Given the description of an element on the screen output the (x, y) to click on. 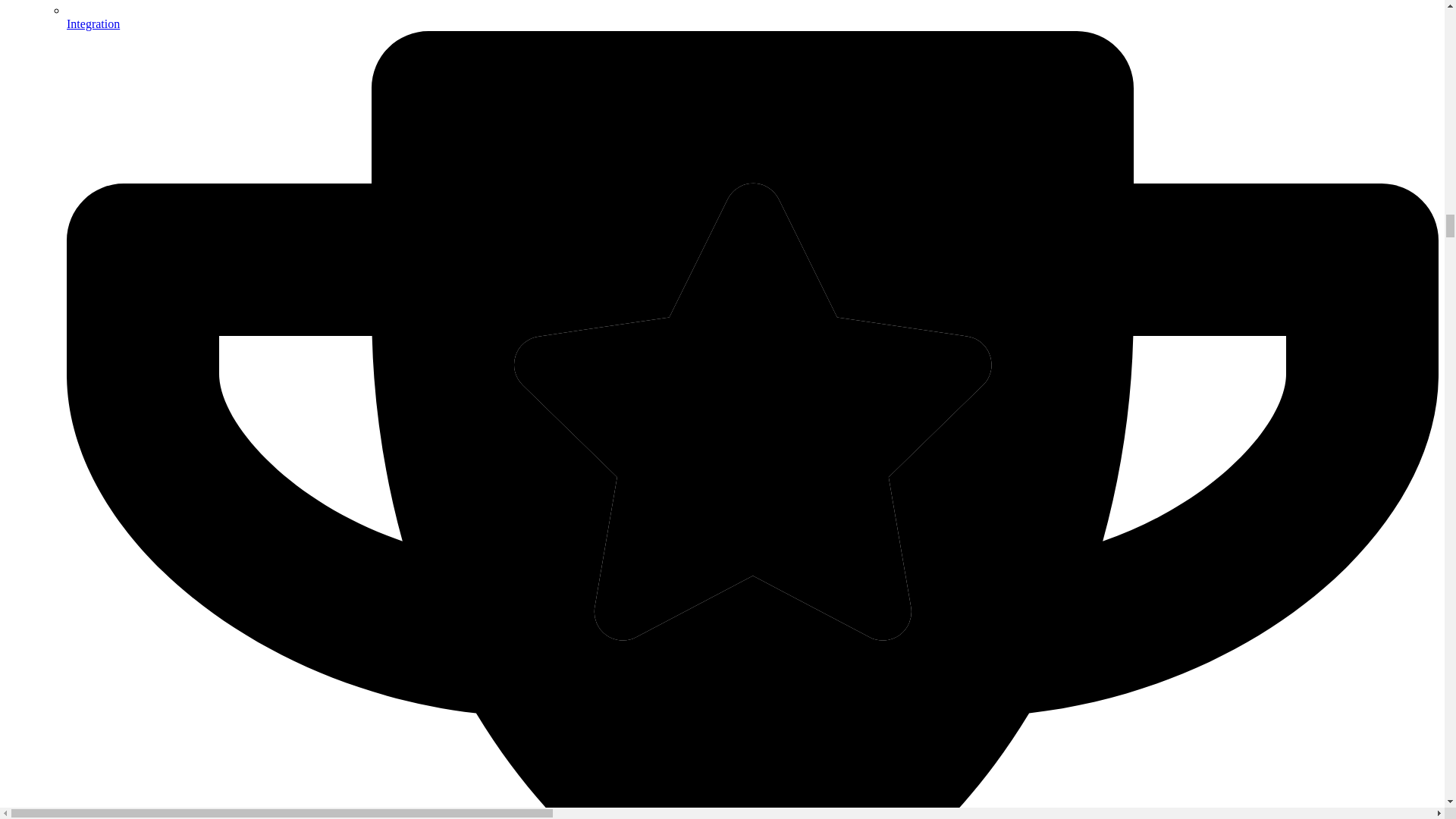
Integration (752, 15)
